Given the description of an element on the screen output the (x, y) to click on. 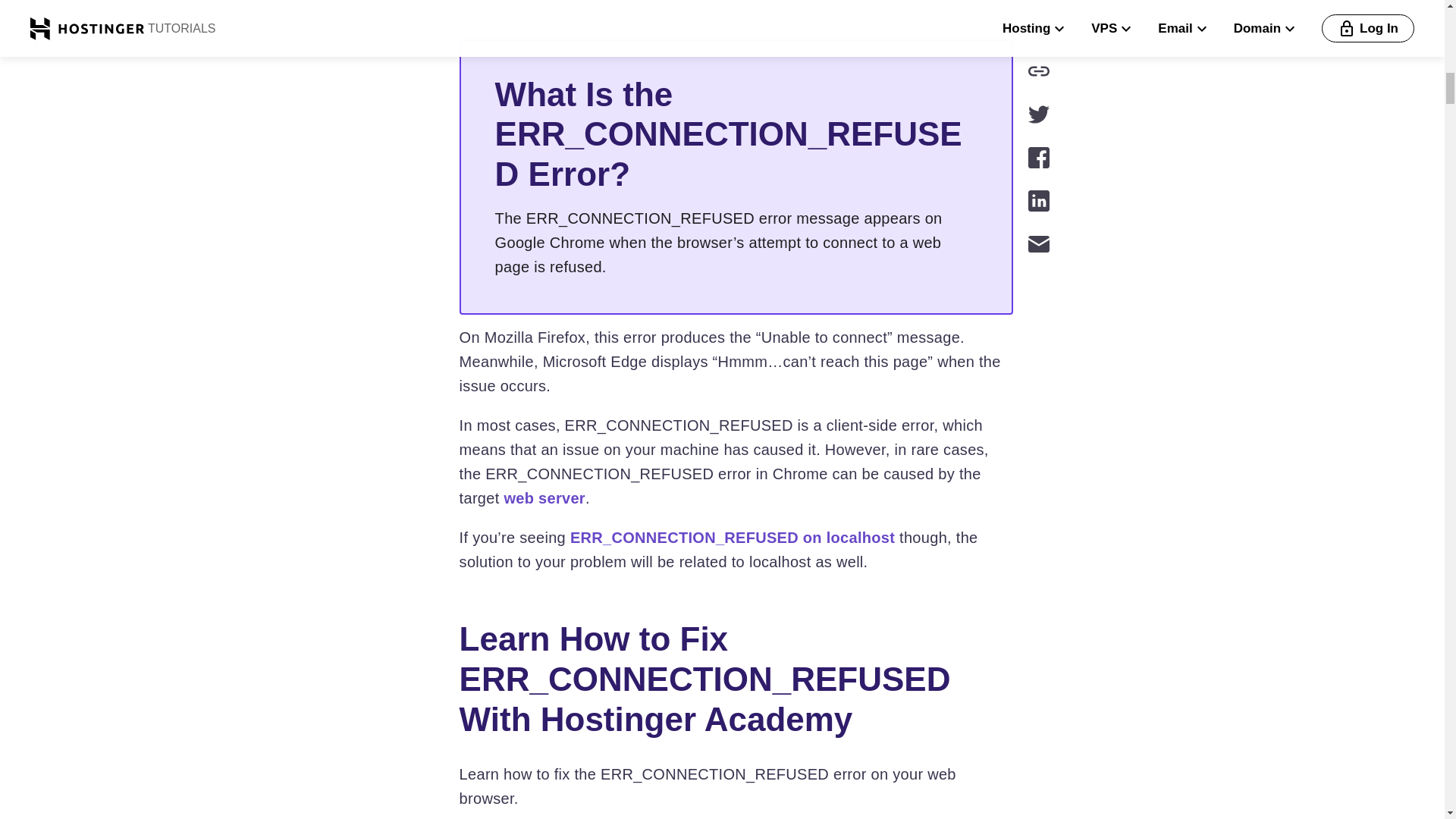
web server (544, 497)
